Given the description of an element on the screen output the (x, y) to click on. 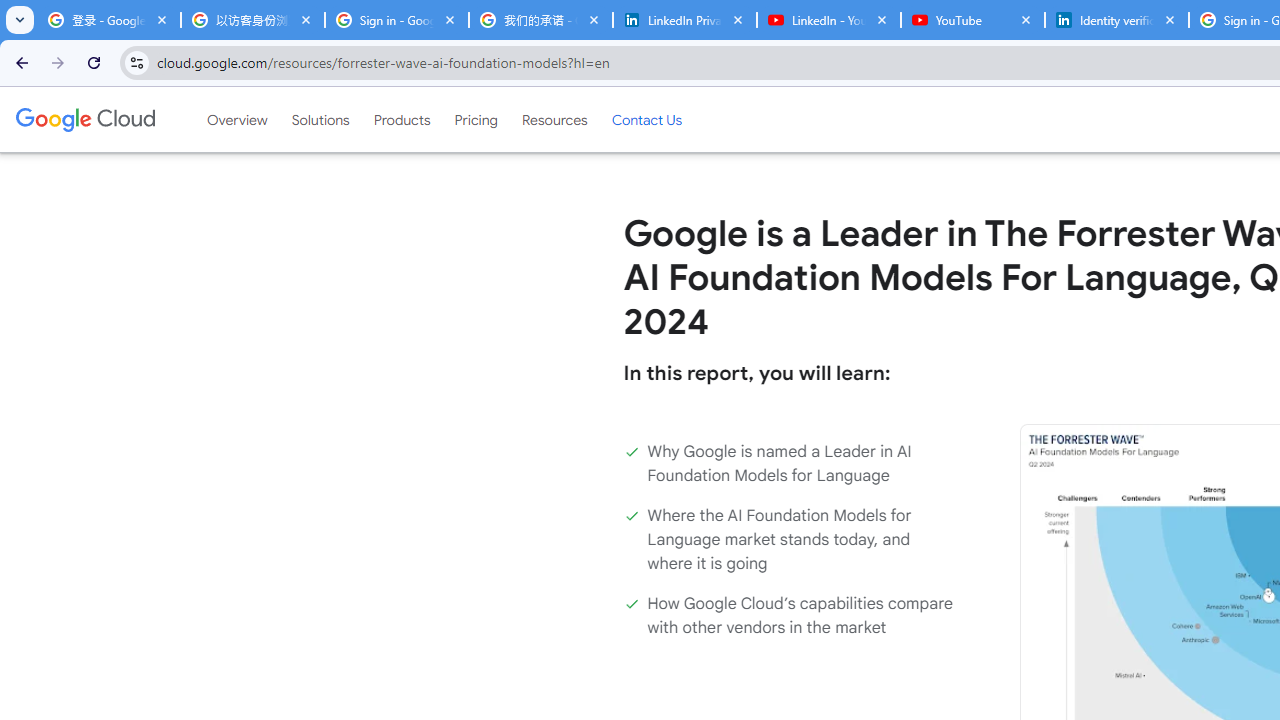
Google Cloud (84, 119)
YouTube (972, 20)
Solutions (320, 119)
Contact Us (646, 119)
Sign in - Google Accounts (396, 20)
Products (401, 119)
LinkedIn - YouTube (828, 20)
